Given the description of an element on the screen output the (x, y) to click on. 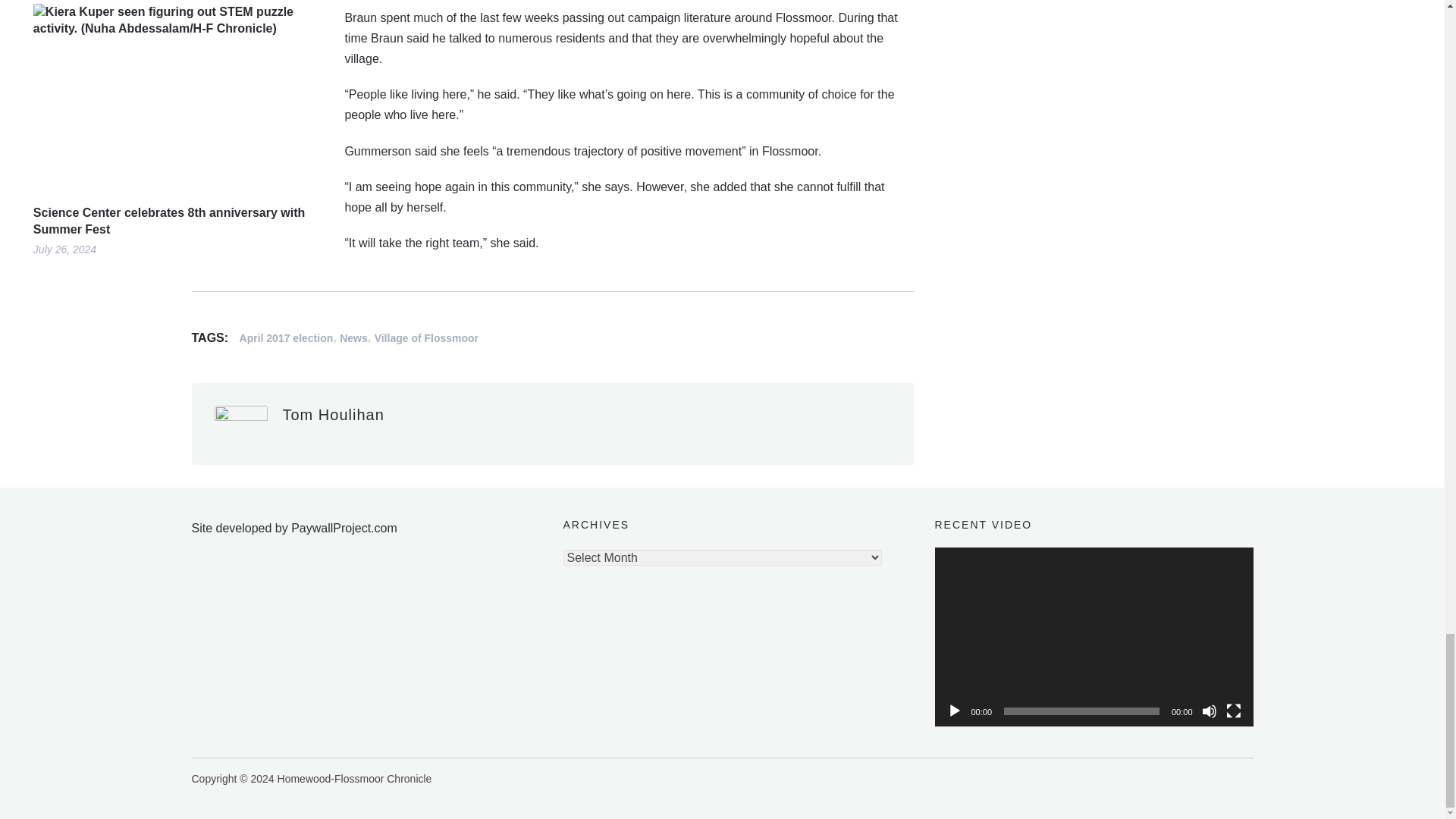
Play (953, 711)
Mute (1208, 711)
Posts by Tom Houlihan (333, 414)
Fullscreen (1232, 711)
